Given the description of an element on the screen output the (x, y) to click on. 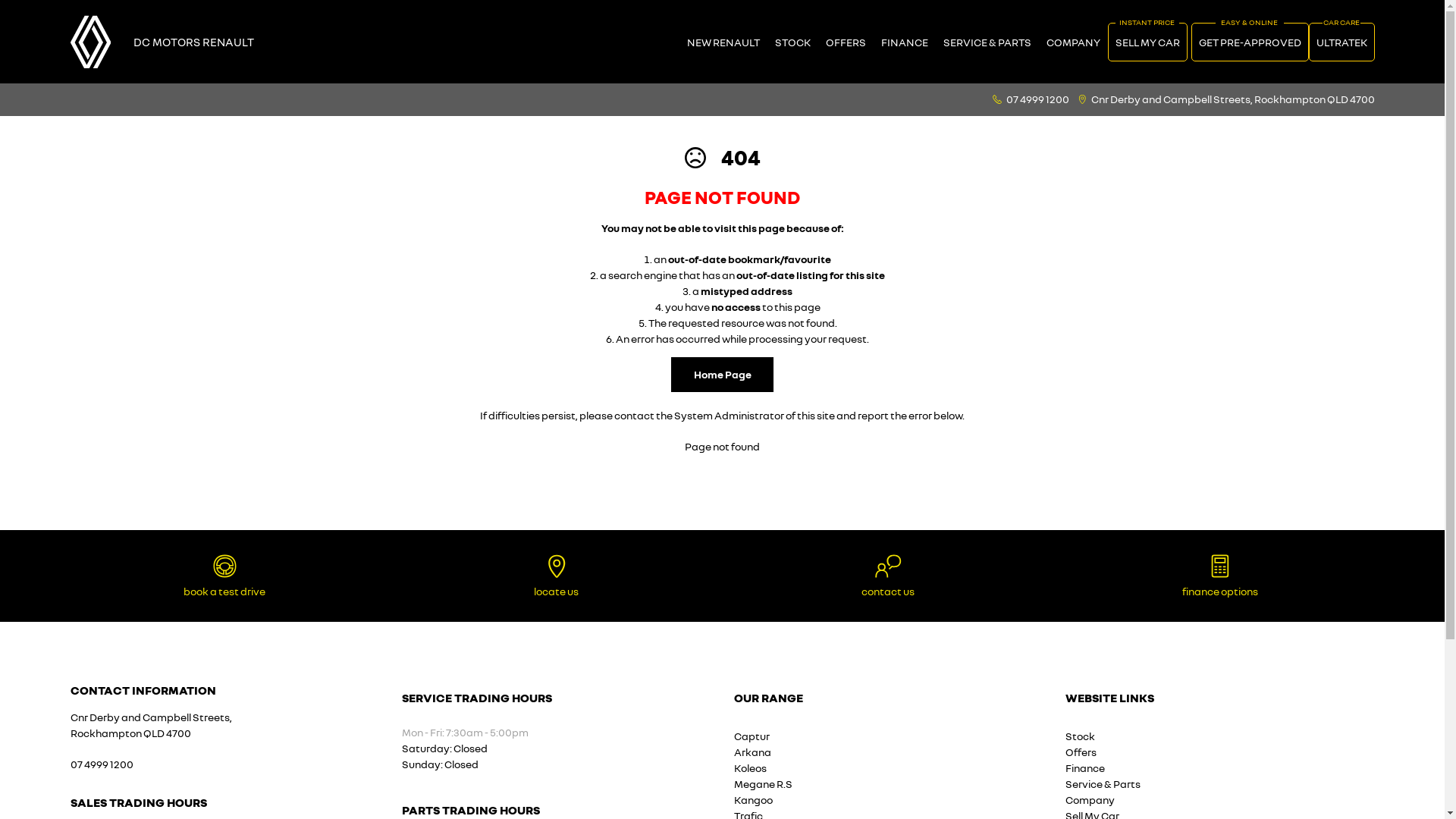
07 4999 1200 Element type: text (1036, 98)
SERVICE & PARTS Element type: text (986, 41)
Arkana Element type: text (752, 751)
Kangoo Element type: text (753, 799)
Stock Element type: text (1080, 735)
Captur Element type: text (751, 735)
contact us Element type: text (888, 575)
DC MOTORS RENAULT Element type: text (193, 41)
Cnr Derby and Campbell Streets, Rockhampton QLD 4700 Element type: text (1232, 98)
Koleos Element type: text (750, 767)
NEW RENAULT Element type: text (723, 41)
GET PRE-APPROVED Element type: text (1249, 41)
Service & Parts Element type: text (1102, 783)
COMPANY Element type: text (1072, 41)
Megane R.S Element type: text (763, 783)
SELL MY CAR Element type: text (1146, 41)
locate us Element type: text (556, 575)
07 4999 1200 Element type: text (100, 763)
FINANCE Element type: text (904, 41)
Home Page Element type: text (722, 374)
book a test drive Element type: text (224, 575)
ULTRATEK Element type: text (1341, 41)
Company Element type: text (1089, 799)
Offers Element type: text (1080, 751)
STOCK Element type: text (792, 41)
OFFERS Element type: text (844, 41)
finance options Element type: text (1219, 575)
Finance Element type: text (1084, 767)
